Given the description of an element on the screen output the (x, y) to click on. 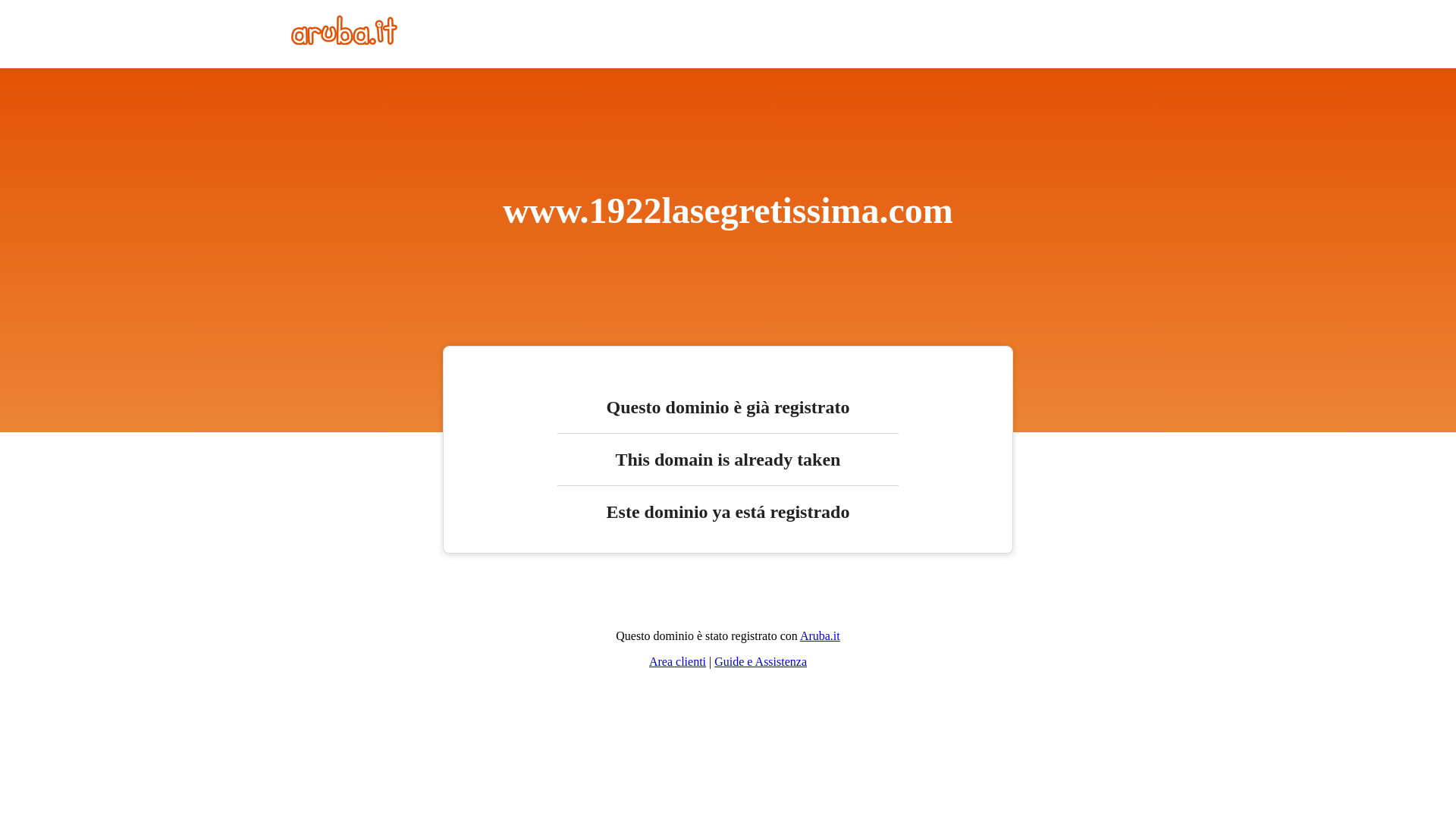
Home Element type: hover (344, 40)
Aruba.it Element type: text (820, 635)
Area clienti Element type: text (677, 661)
Guide e Assistenza Element type: text (760, 661)
